Given the description of an element on the screen output the (x, y) to click on. 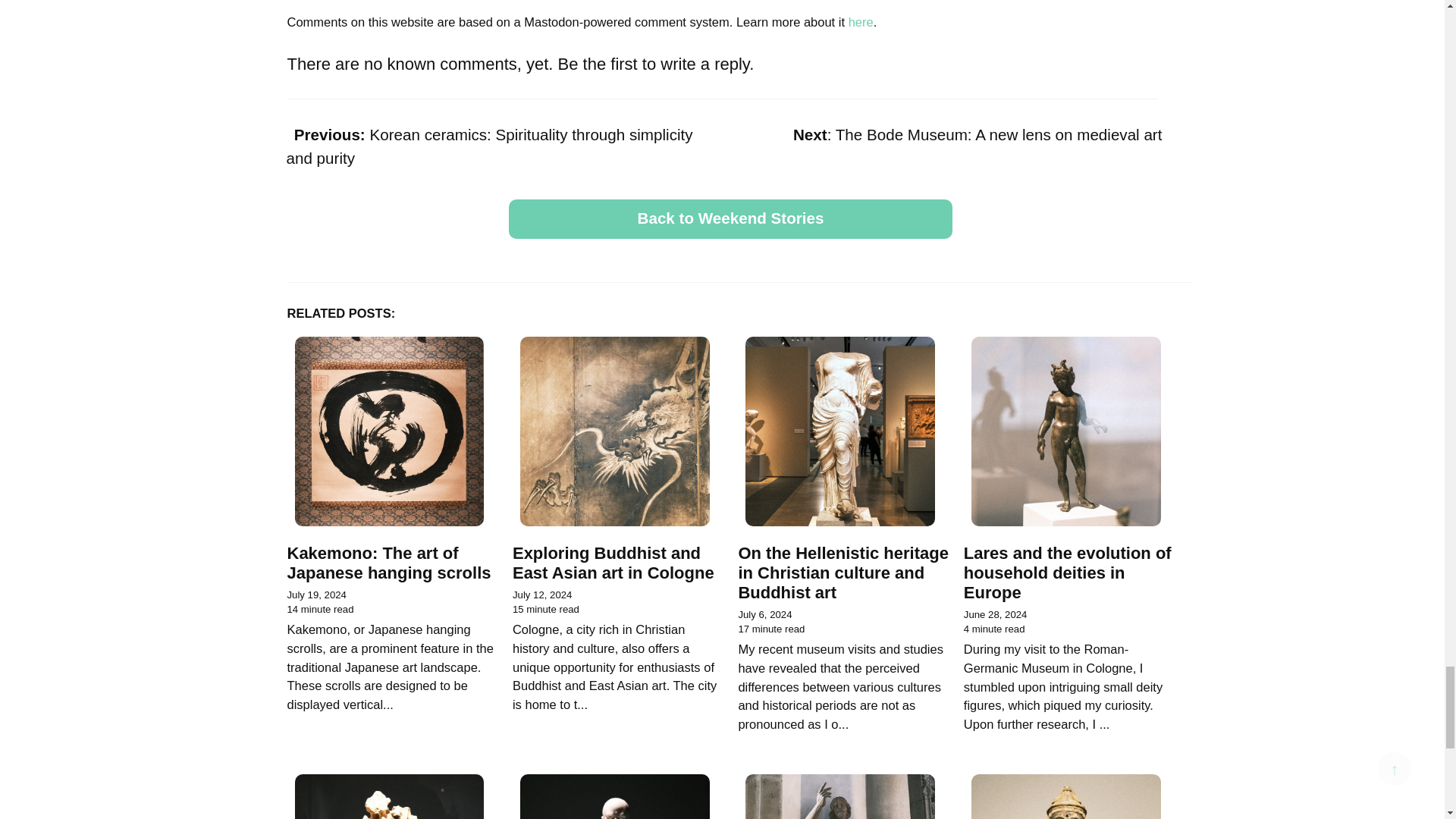
Kakemono: The art of Japanese hanging scrolls (388, 562)
Exploring Buddhist and East Asian art in Cologne (730, 219)
Back to Weekend Stories (956, 135)
Lares and the evolution of household deities in Europe (613, 562)
here (730, 219)
Next: The Bode Museum: A new lens on medieval art (1067, 572)
